Given the description of an element on the screen output the (x, y) to click on. 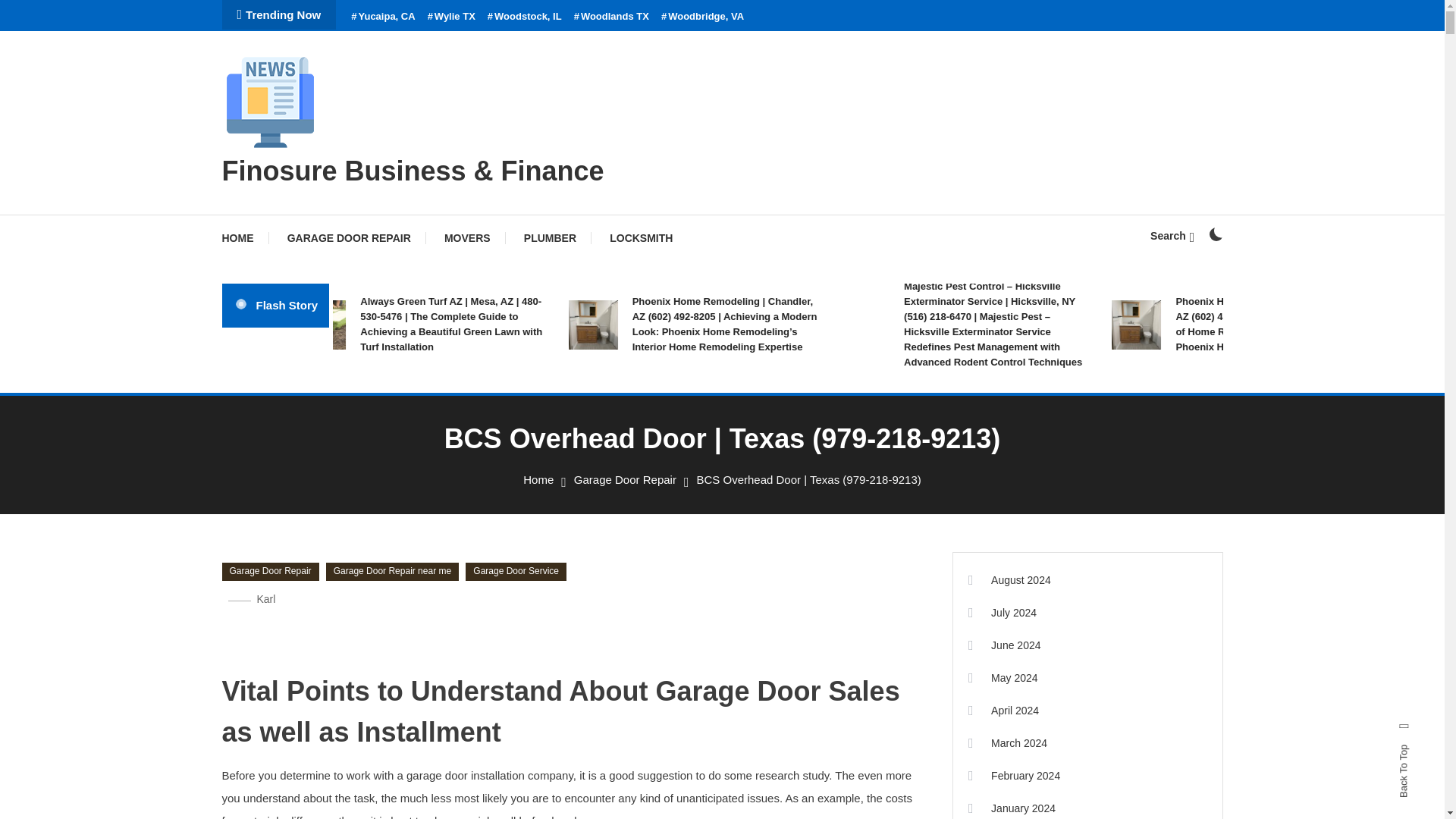
Yucaipa, CA (382, 16)
PLUMBER (549, 238)
Garage Door Repair near me (392, 571)
Woodbridge, VA (702, 16)
GARAGE DOOR REPAIR (349, 238)
Garage Door Repair (625, 479)
Woodlands TX (611, 16)
Garage Door Service (515, 571)
Woodstock, IL (524, 16)
on (1215, 233)
